Given the description of an element on the screen output the (x, y) to click on. 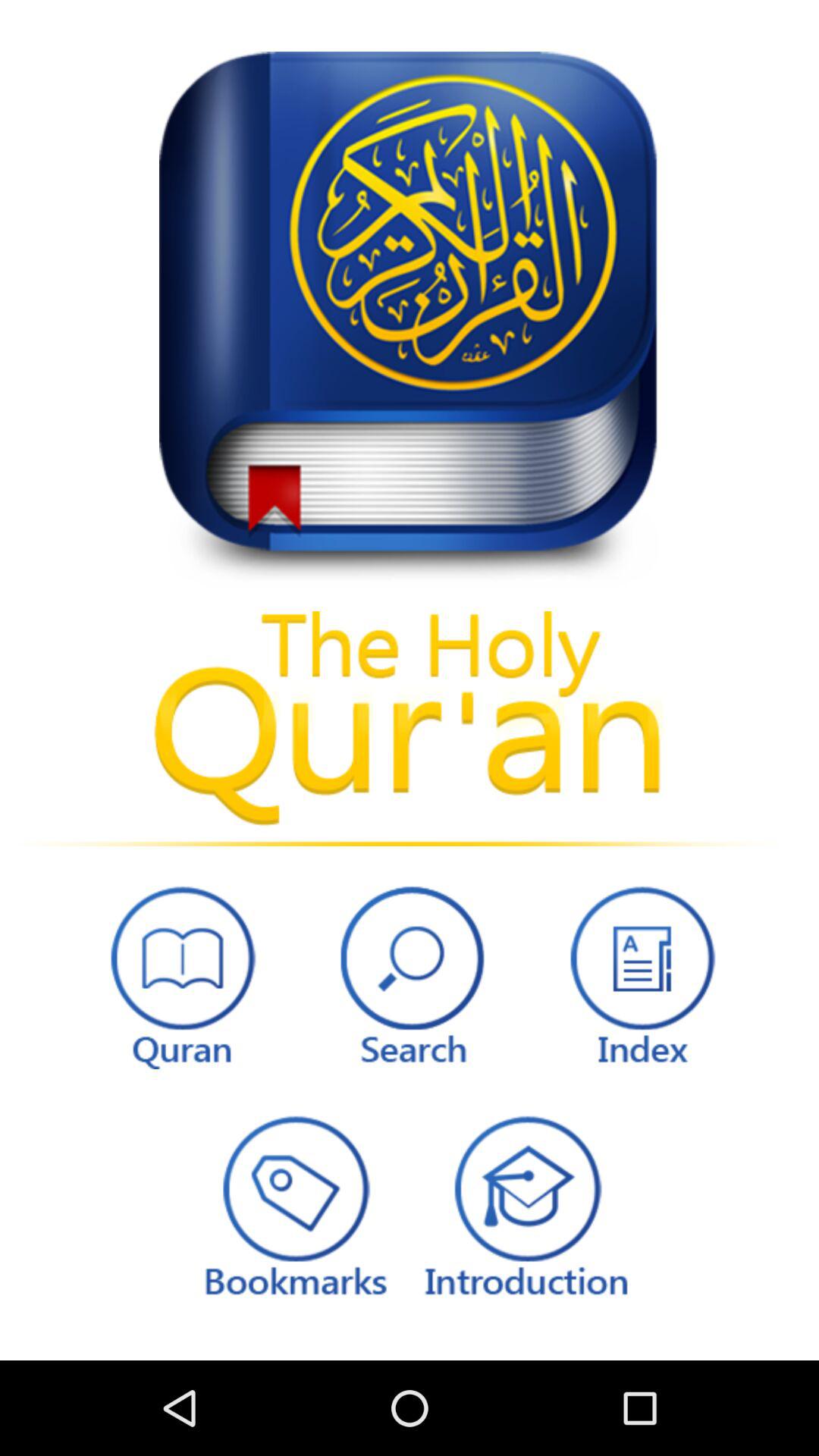
introduction to the holy quran (525, 1204)
